Given the description of an element on the screen output the (x, y) to click on. 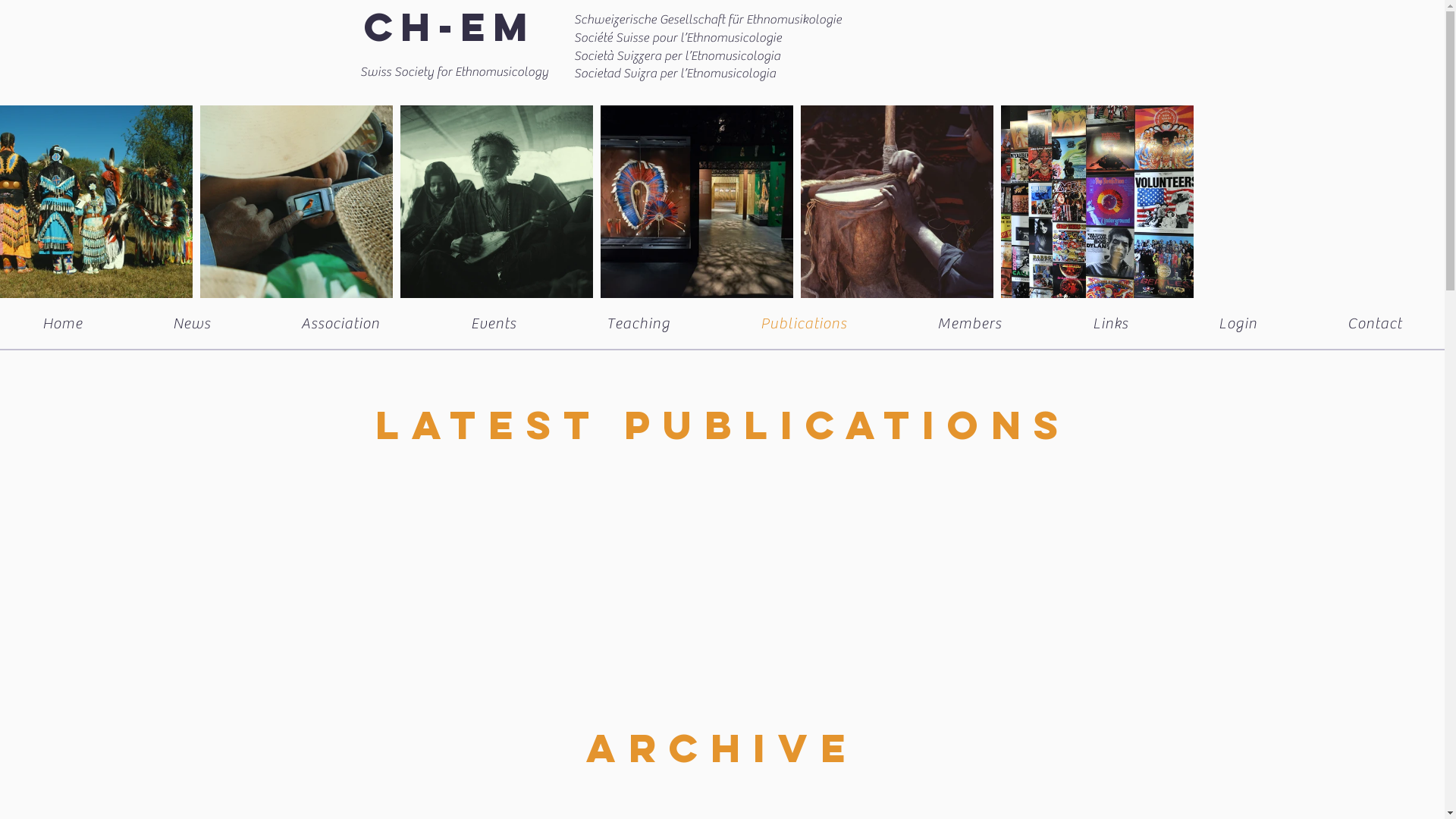
Teaching Element type: text (638, 323)
Publications Element type: text (803, 323)
Contact Element type: text (1374, 323)
Home Element type: text (62, 323)
Login Element type: text (1237, 323)
News Element type: text (191, 323)
Links Element type: text (1110, 323)
Events Element type: text (493, 323)
Association Element type: text (340, 323)
Members Element type: text (969, 323)
CH-EM Element type: text (449, 26)
